Given the description of an element on the screen output the (x, y) to click on. 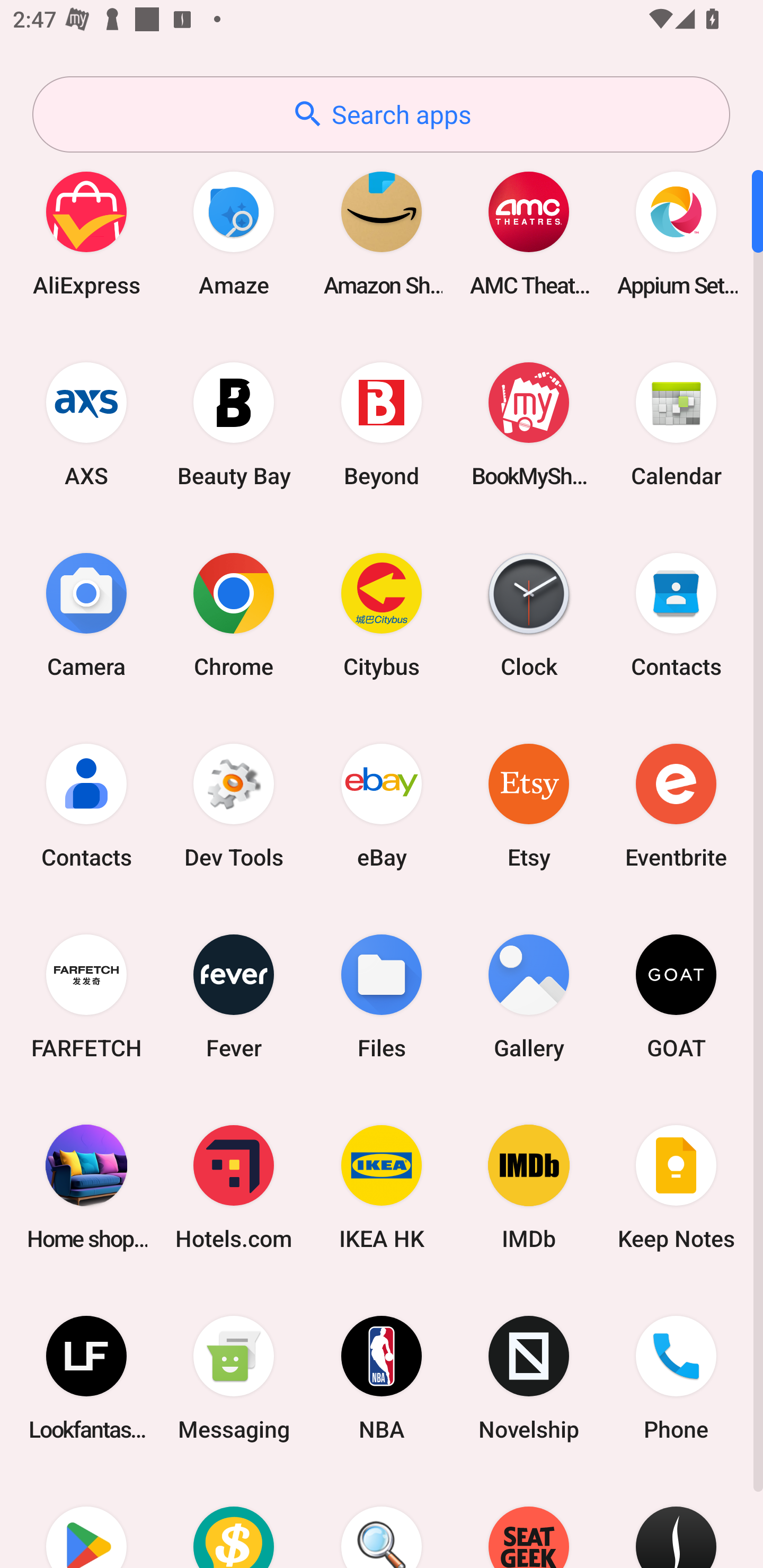
  Search apps (381, 114)
AliExpress (86, 233)
Amaze (233, 233)
Amazon Shopping (381, 233)
AMC Theatres (528, 233)
Appium Settings (676, 233)
AXS (86, 424)
Beauty Bay (233, 424)
Beyond (381, 424)
BookMyShow (528, 424)
Calendar (676, 424)
Camera (86, 614)
Chrome (233, 614)
Citybus (381, 614)
Clock (528, 614)
Contacts (676, 614)
Contacts (86, 805)
Dev Tools (233, 805)
eBay (381, 805)
Etsy (528, 805)
Eventbrite (676, 805)
FARFETCH (86, 996)
Fever (233, 996)
Files (381, 996)
Gallery (528, 996)
GOAT (676, 996)
Home shopping (86, 1186)
Hotels.com (233, 1186)
IKEA HK (381, 1186)
IMDb (528, 1186)
Keep Notes (676, 1186)
Lookfantastic (86, 1377)
Messaging (233, 1377)
NBA (381, 1377)
Novelship (528, 1377)
Phone (676, 1377)
Play Store (86, 1520)
Price (233, 1520)
Search (381, 1520)
SeatGeek (528, 1520)
Sephora (676, 1520)
